Given the description of an element on the screen output the (x, y) to click on. 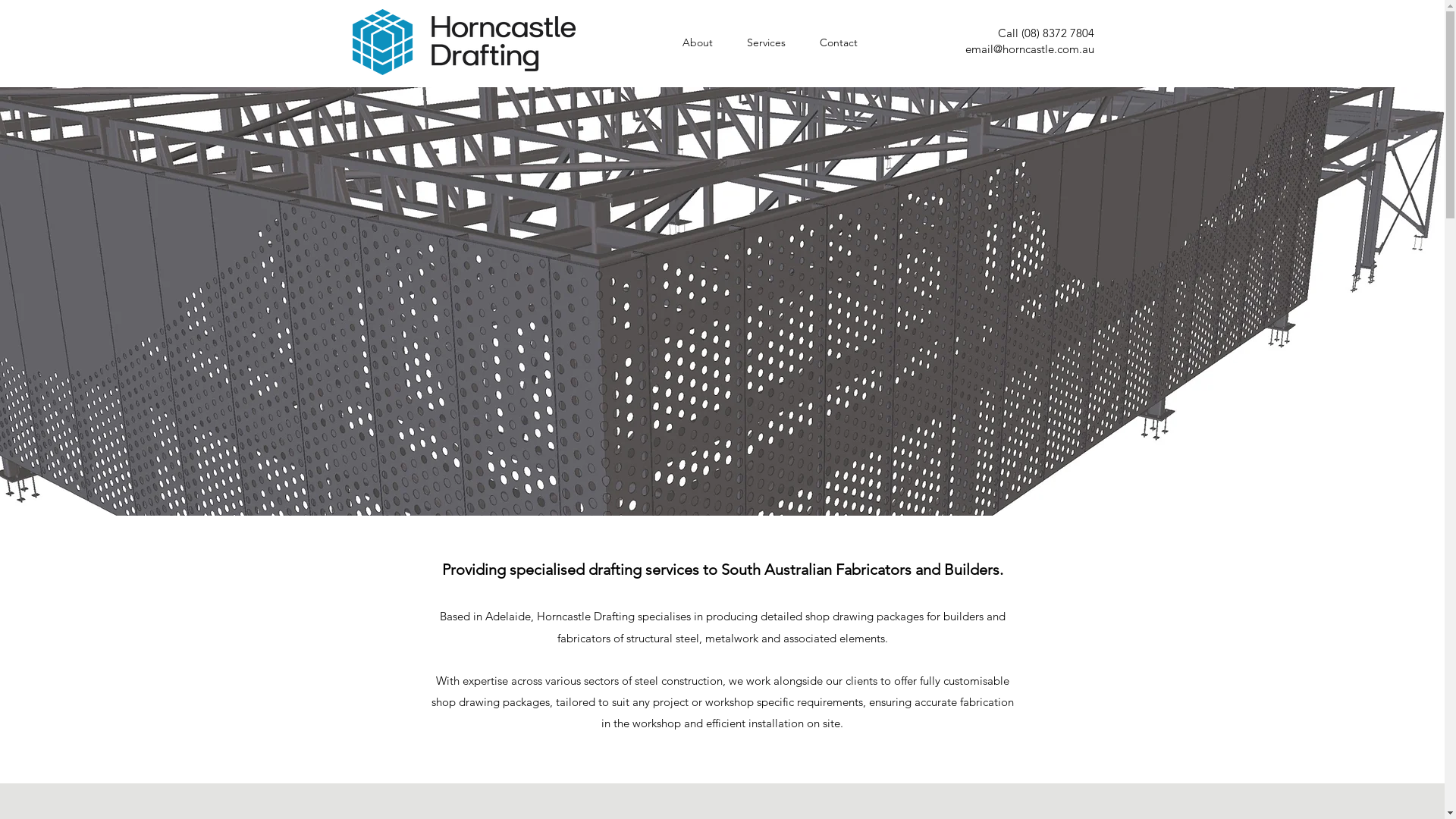
Services Element type: text (765, 42)
Contact Element type: text (838, 42)
About Element type: text (697, 42)
email@horncastle.com.au Element type: text (1028, 48)
